Given the description of an element on the screen output the (x, y) to click on. 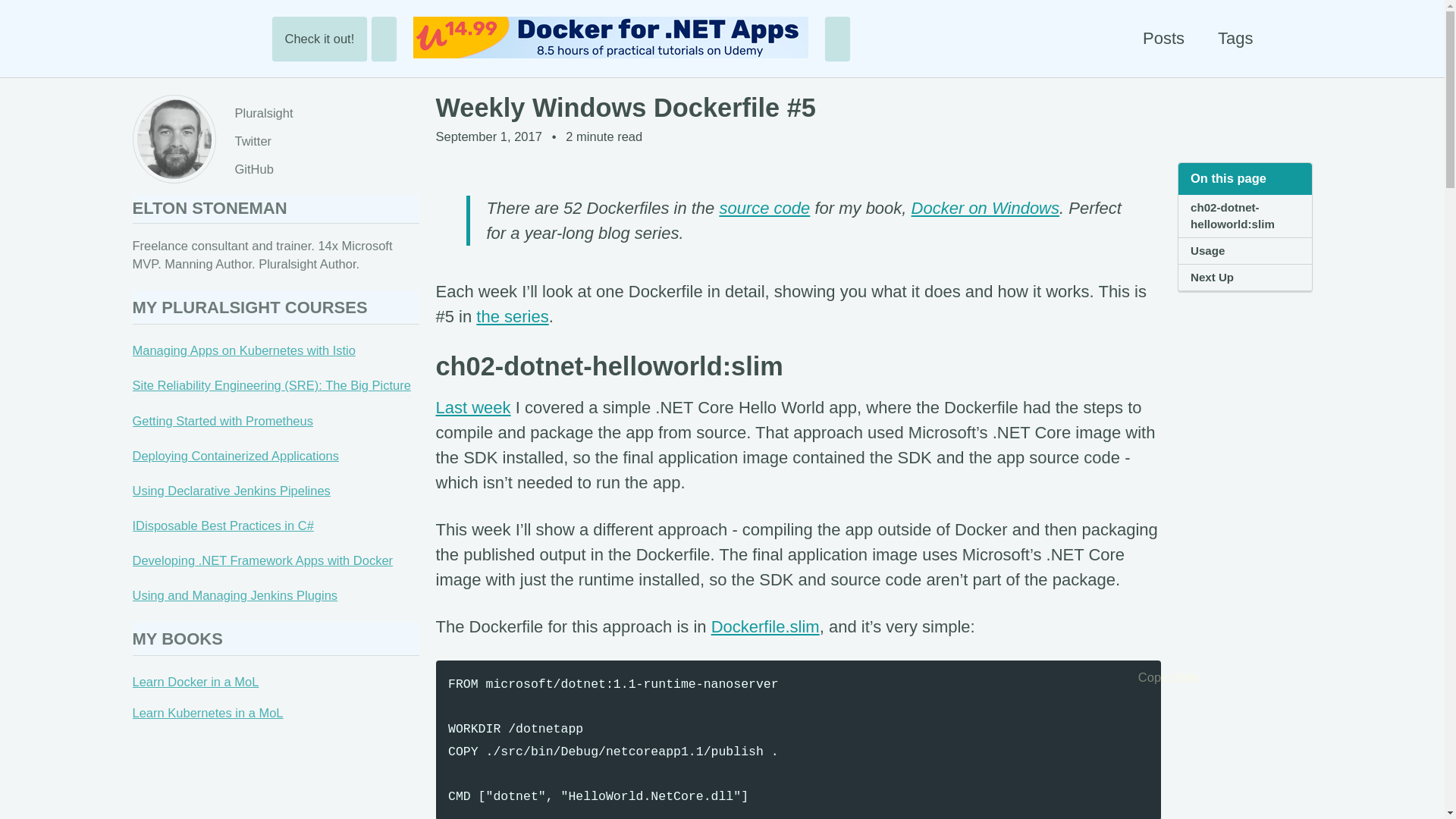
Posts (1163, 37)
Getting Started with Prometheus (222, 420)
ELTON STONEMAN (209, 208)
Last week (473, 407)
GitHub (263, 169)
Managing Apps on Kubernetes with Istio (243, 350)
Twitter (263, 141)
Docker on Windows (985, 208)
the series (512, 316)
Learn Kubernetes in a MoL (207, 712)
Deploying Containerized Applications (234, 455)
Pluralsight (263, 113)
source code (764, 208)
Copy code (1143, 677)
